Given the description of an element on the screen output the (x, y) to click on. 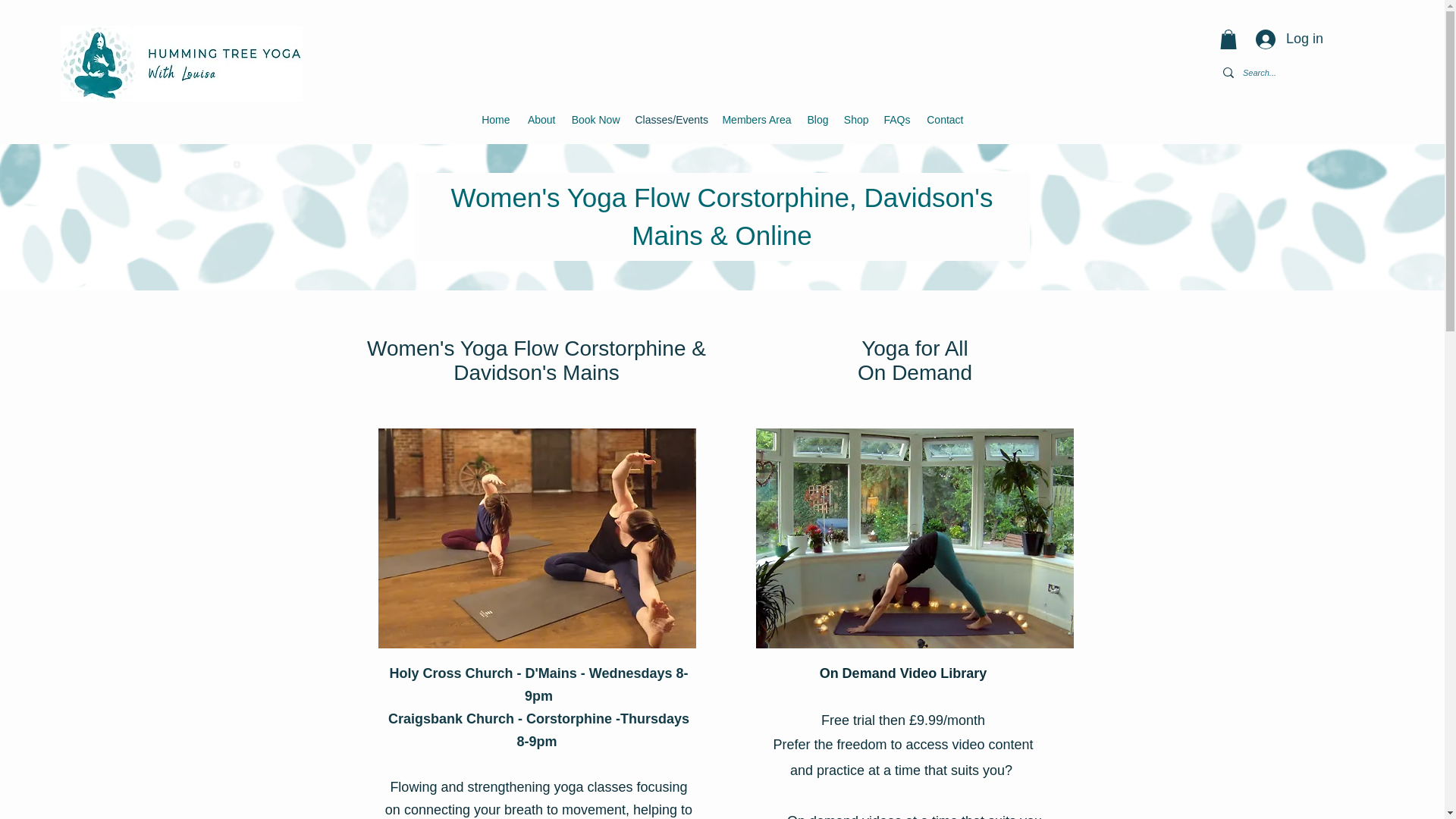
Homepage (181, 63)
Contact (944, 119)
Book Now (594, 119)
About (539, 119)
Members Area (756, 119)
Women's Yoga (536, 538)
Online yog (914, 538)
Log in (1288, 39)
Home (494, 119)
